Given the description of an element on the screen output the (x, y) to click on. 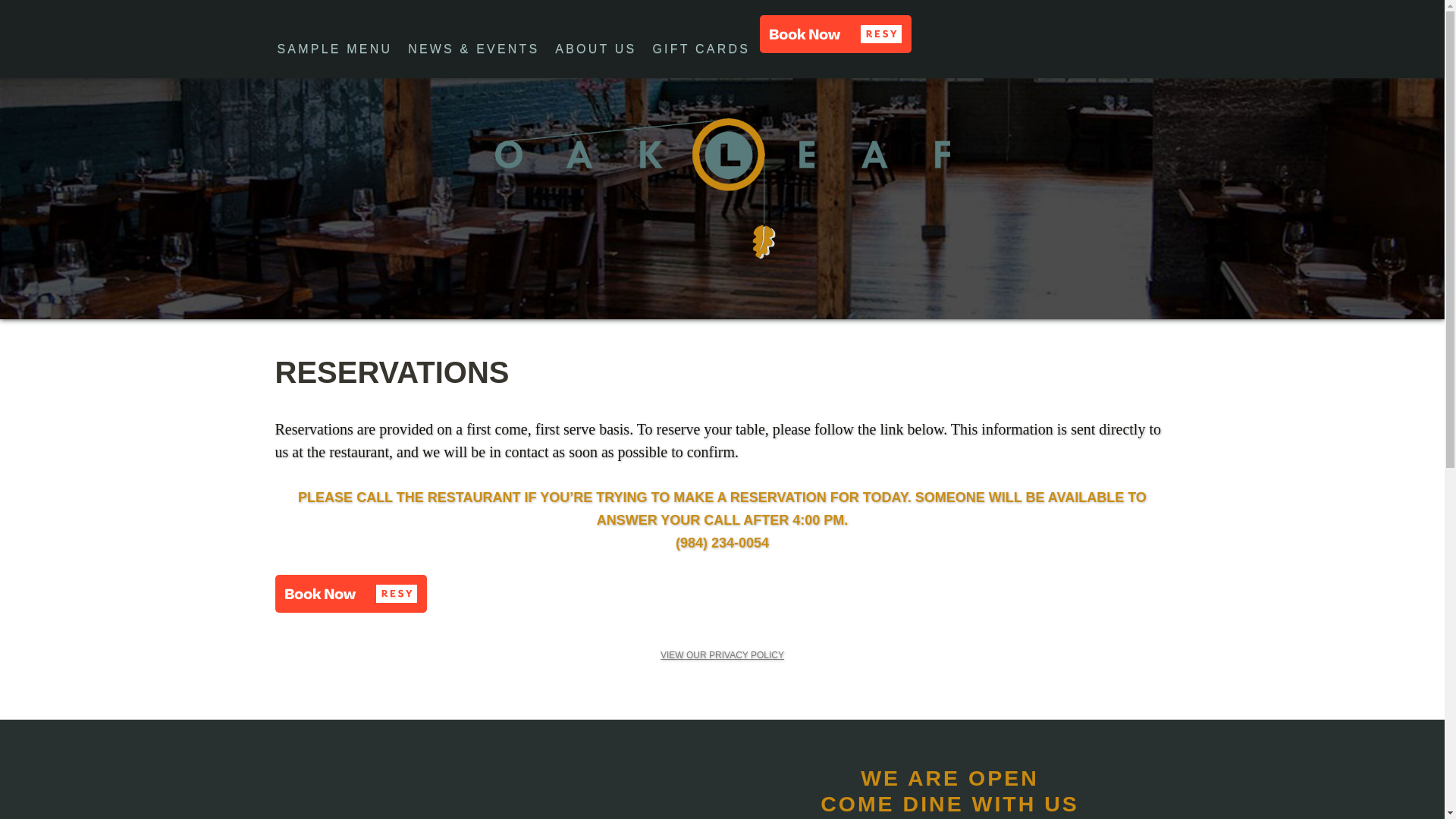
GIFT CARDS (700, 49)
SAMPLE MENU (334, 49)
VIEW OUR PRIVACY POLICY (722, 655)
Oakleaf Privacy Policy (722, 655)
Home (722, 187)
ABOUT US (595, 49)
